Given the description of an element on the screen output the (x, y) to click on. 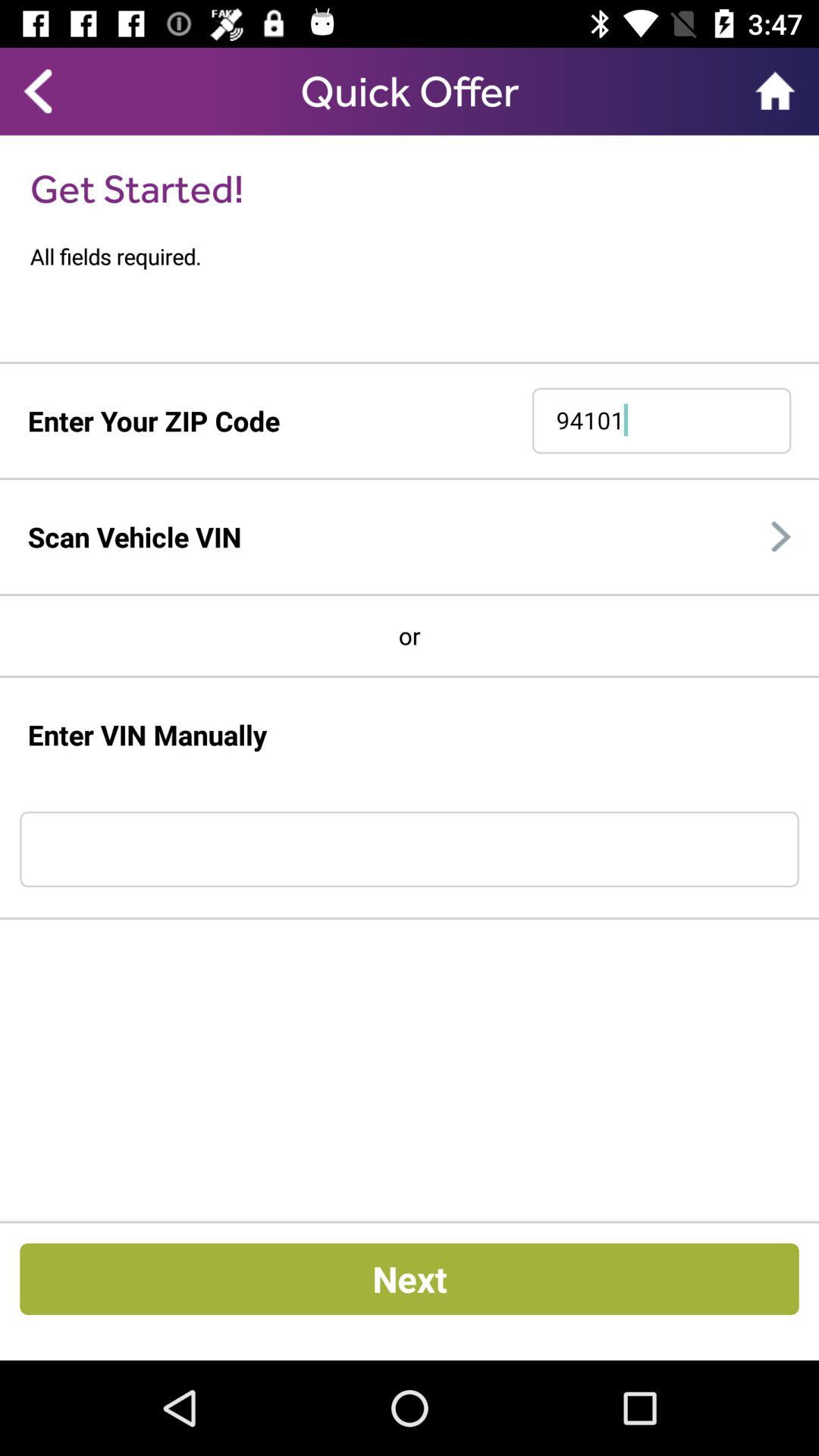
open enter your zip item (153, 420)
